Given the description of an element on the screen output the (x, y) to click on. 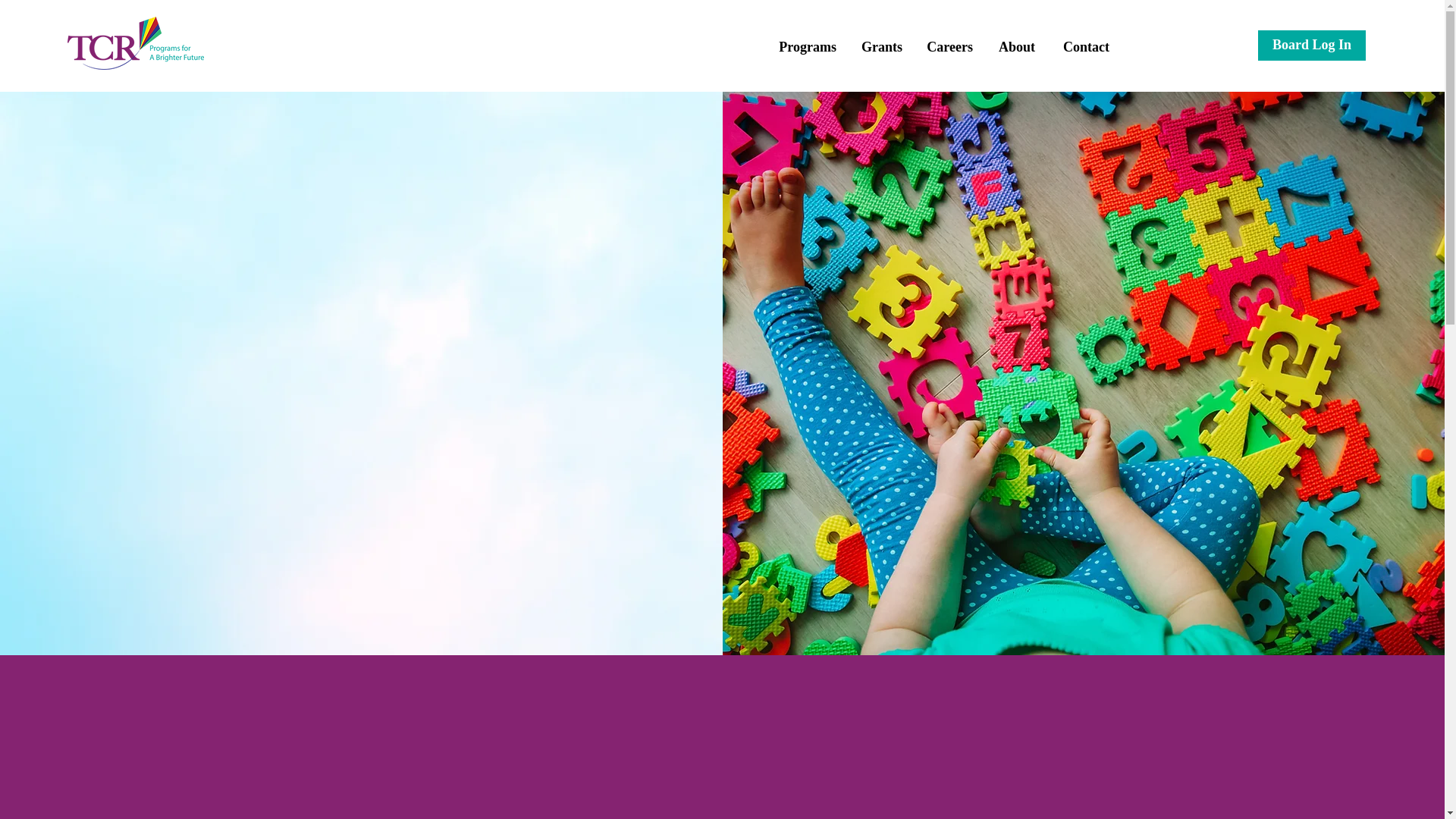
Grants (880, 47)
Board Log In (1311, 45)
Careers (949, 47)
Programs (806, 47)
Contact (1083, 47)
About (1015, 47)
